Given the description of an element on the screen output the (x, y) to click on. 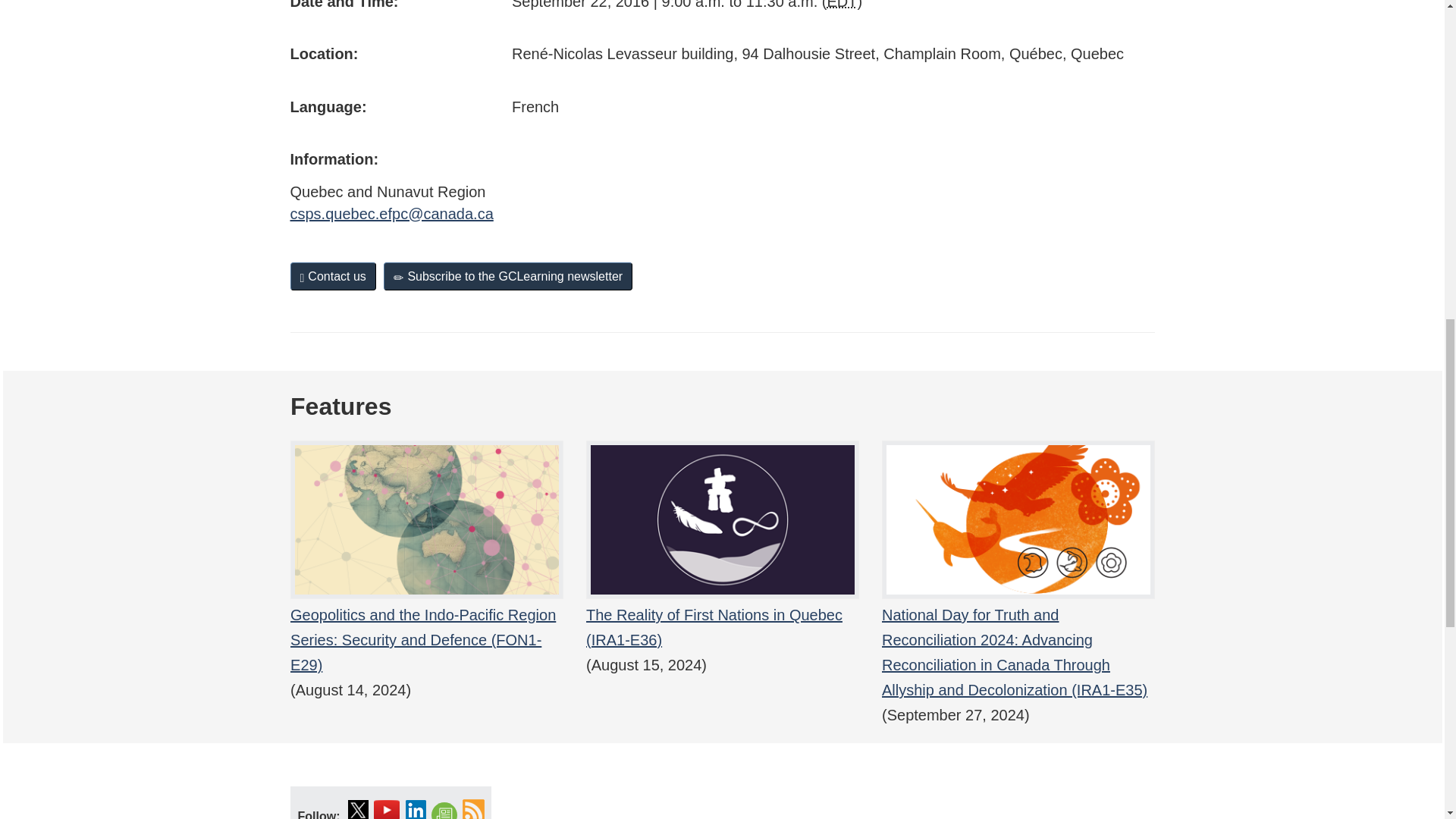
LinkedIn (415, 806)
Twitter (357, 806)
Contact us (332, 276)
YouTube (386, 806)
LinkedIn (415, 806)
RSS (472, 806)
East Daylight Time (842, 4)
YouTube (386, 806)
GCLearning newsletter (443, 809)
RSS (472, 806)
Subscribe to the GCLearning newsletter (507, 276)
Twitter (357, 806)
GCLearning newsletter (443, 809)
